Given the description of an element on the screen output the (x, y) to click on. 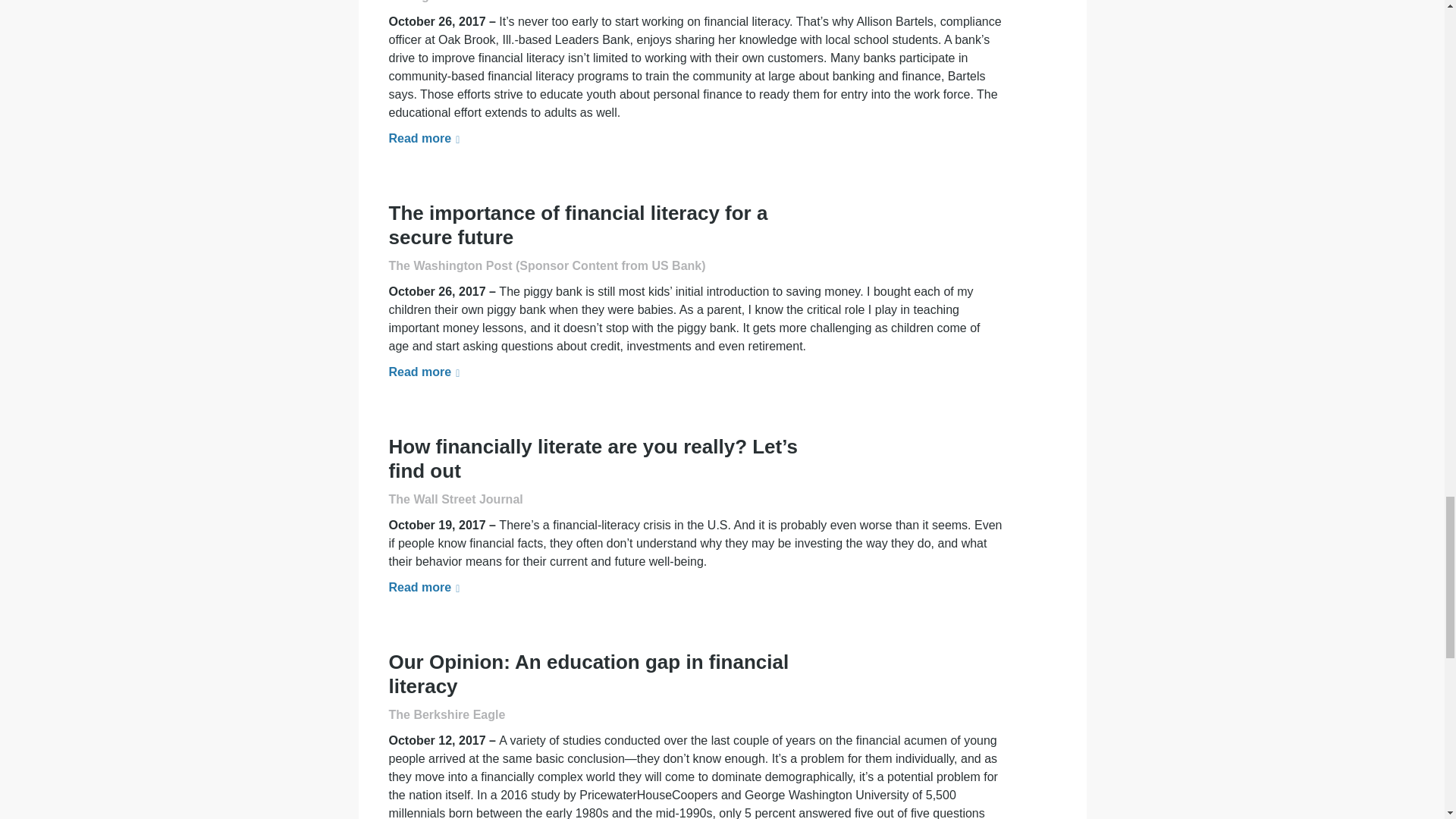
Read more (424, 586)
Read more (424, 137)
Read more (424, 371)
